Given the description of an element on the screen output the (x, y) to click on. 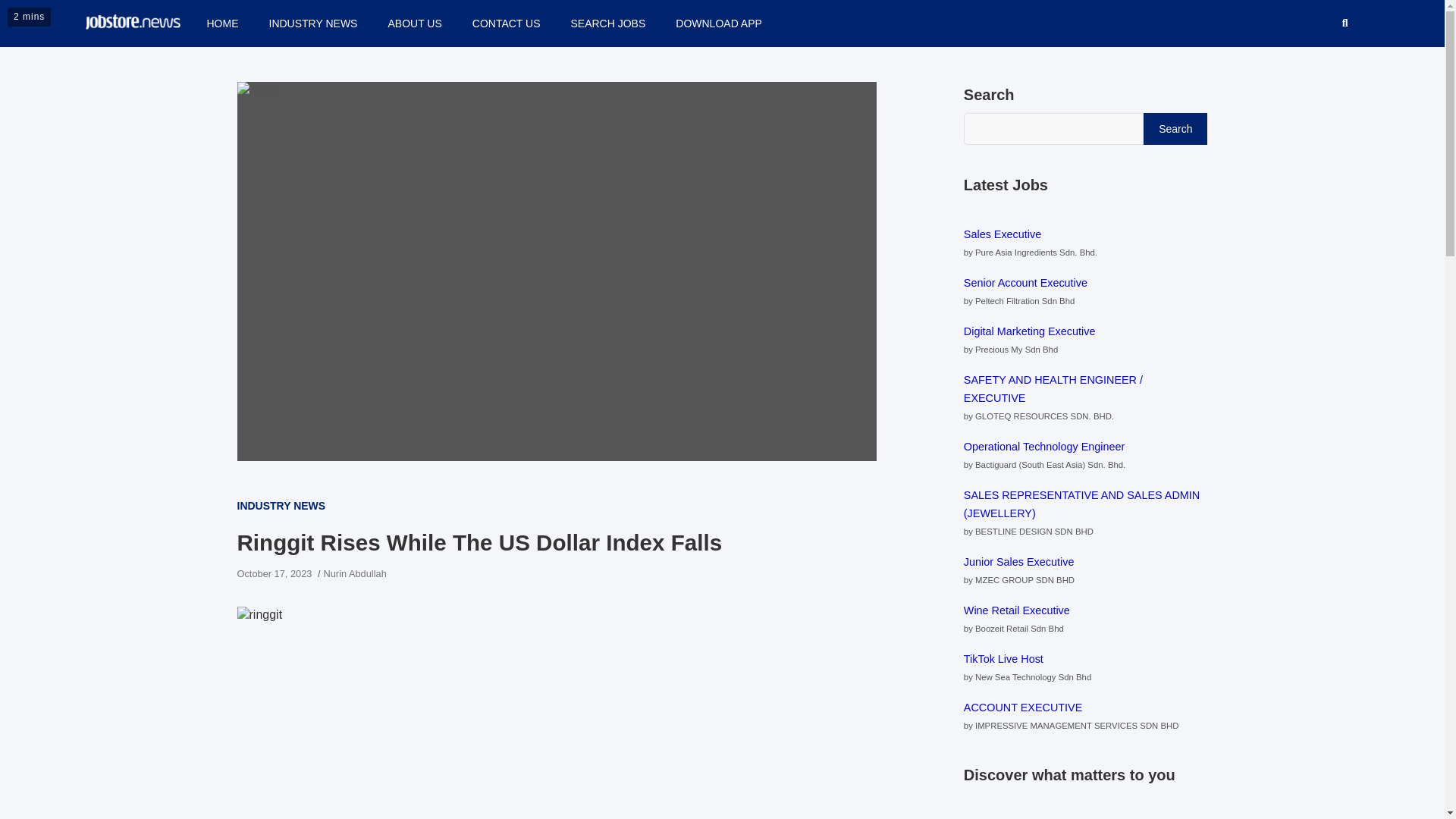
Wine Retail Executive (1016, 610)
Senior Account Executive (1025, 282)
Junior Sales Executive (1018, 562)
October 17, 2023 (273, 573)
ABOUT US (414, 23)
Digital Marketing Executive (1029, 331)
Sales Executive (1002, 234)
INDUSTRY NEWS (279, 505)
Ringgit Rises While The US Dollar Index Falls (273, 573)
ACCOUNT EXECUTIVE (1022, 707)
CONTACT US (506, 23)
Search (1174, 128)
Nurin Abdullah (355, 573)
Operational Technology Engineer (1044, 446)
